Given the description of an element on the screen output the (x, y) to click on. 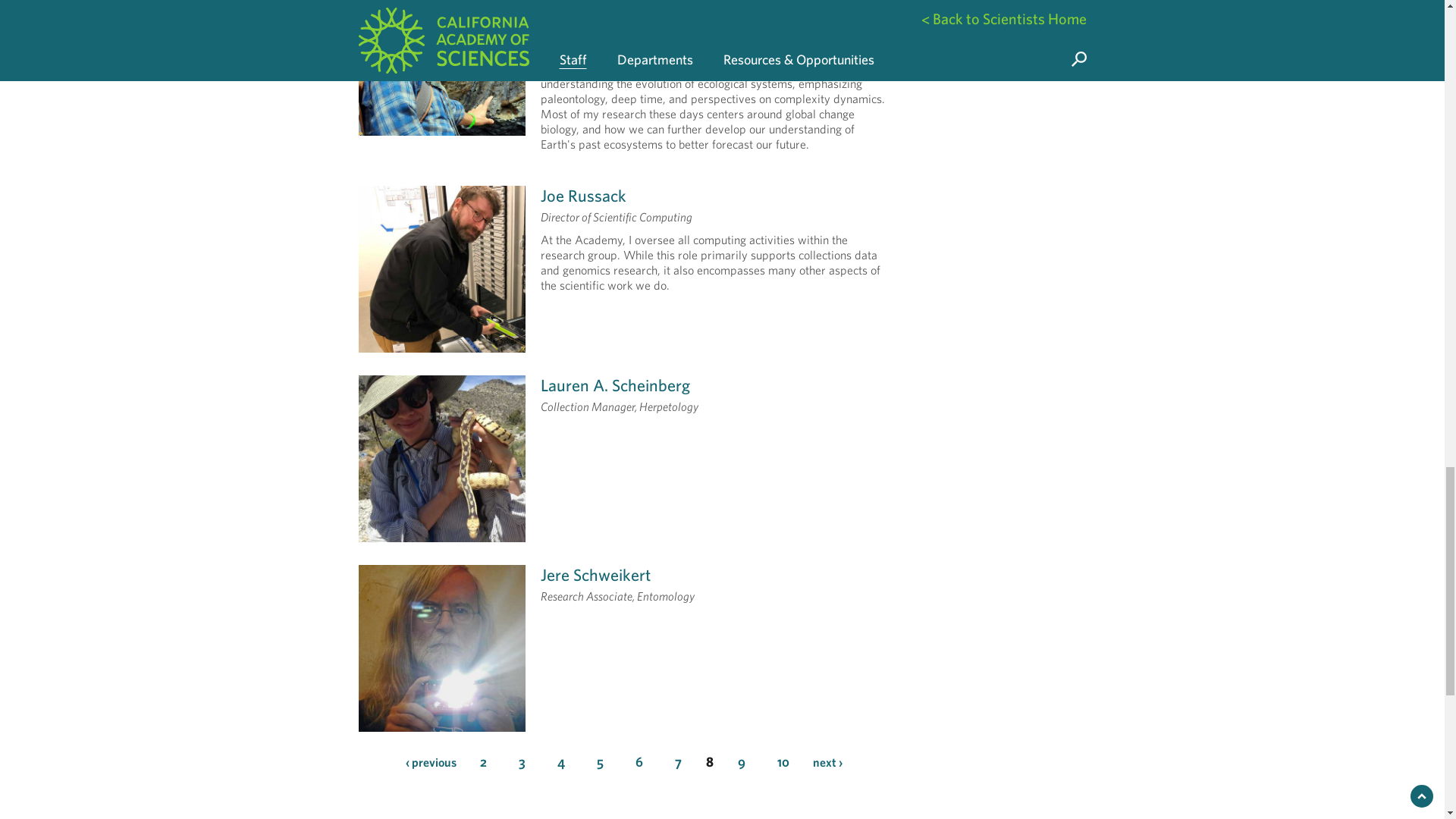
Go to previous page (429, 762)
Go to next page (827, 762)
